Given the description of an element on the screen output the (x, y) to click on. 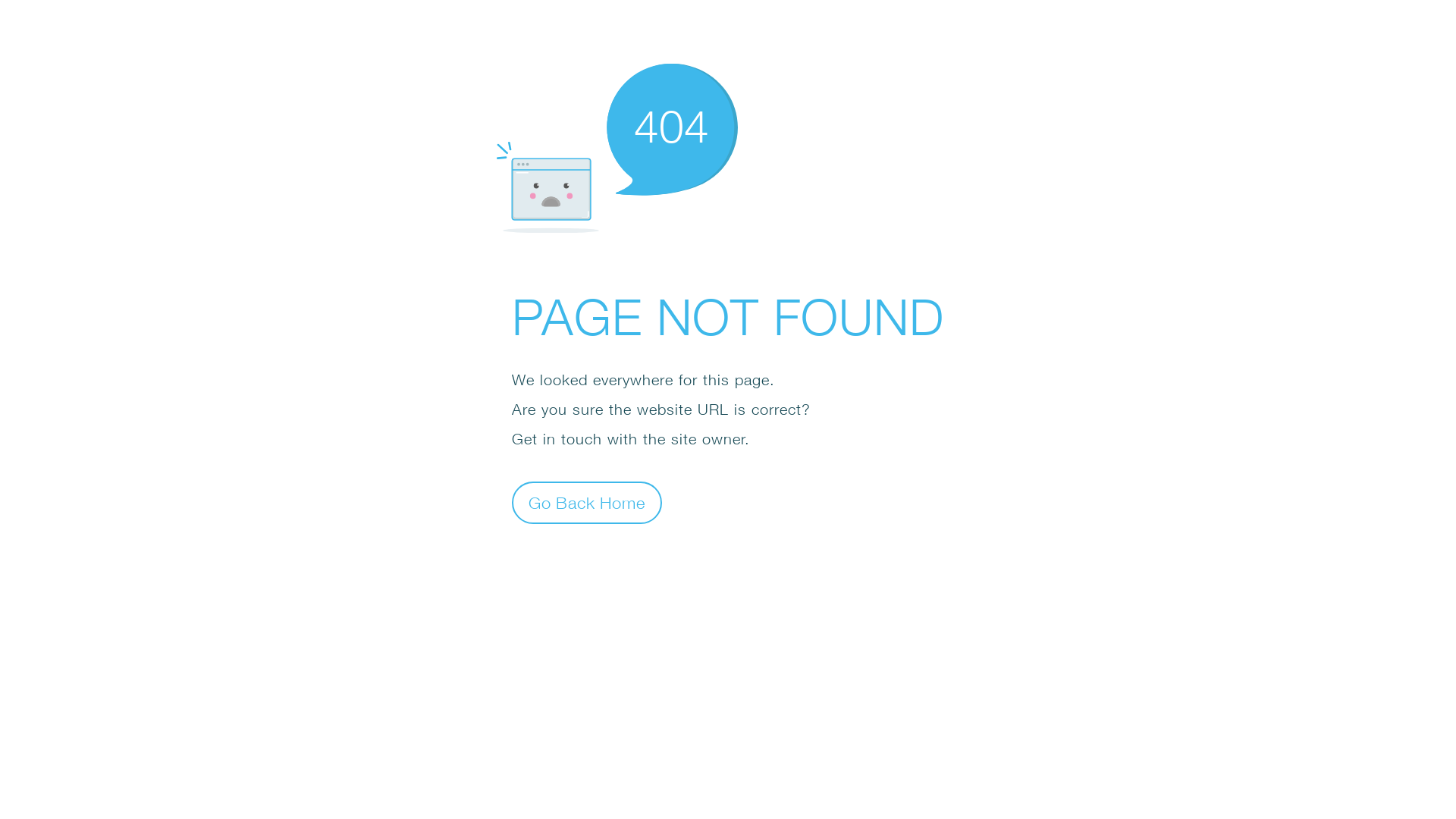
Go Back Home Element type: text (586, 502)
